Given the description of an element on the screen output the (x, y) to click on. 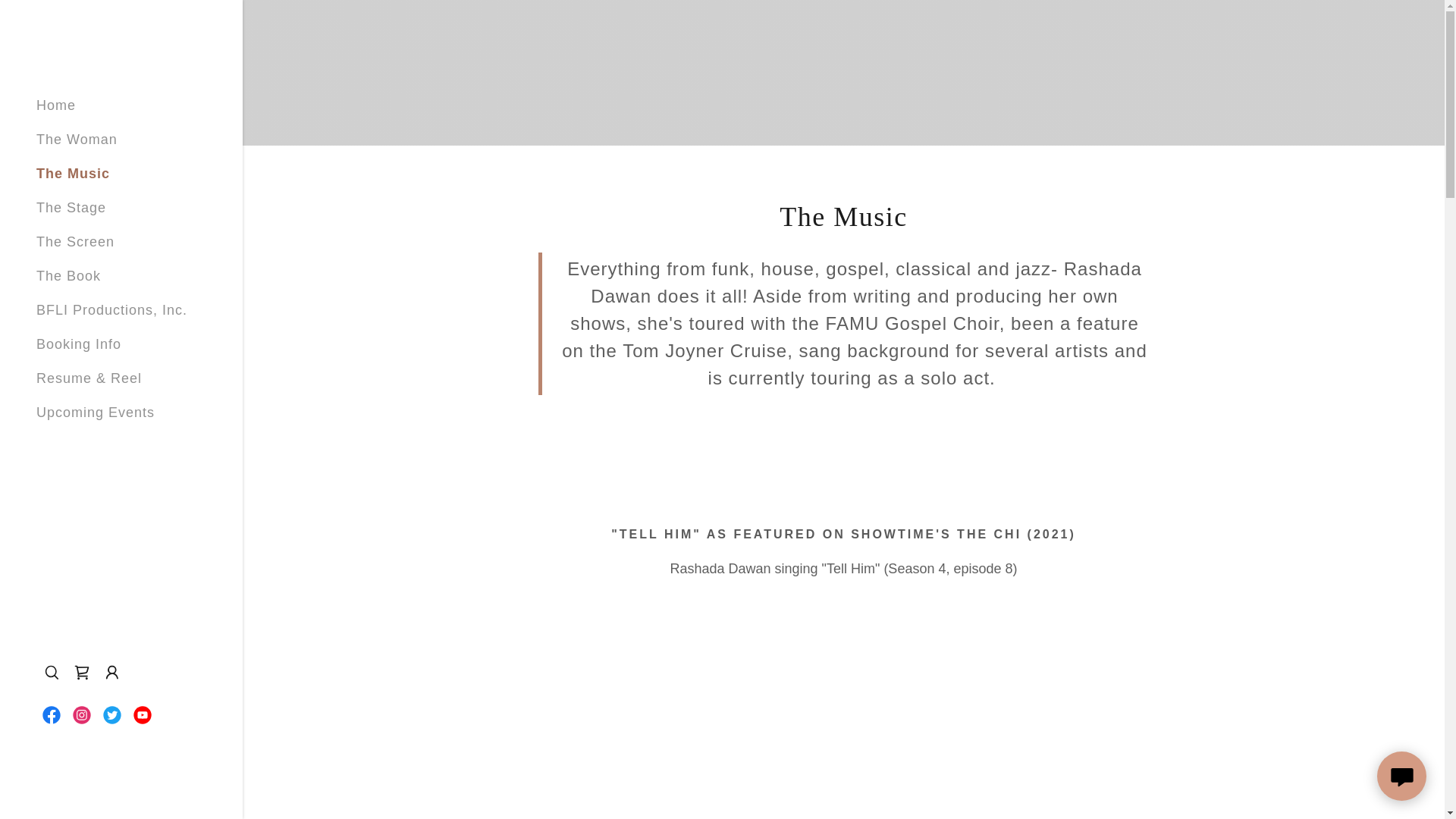
Home (55, 105)
The Music (73, 173)
The Woman (76, 139)
BFLI Productions, Inc. (111, 309)
Booking Info (78, 344)
The Screen (75, 241)
The Book (68, 275)
Upcoming Events (95, 412)
The Stage (71, 207)
